Given the description of an element on the screen output the (x, y) to click on. 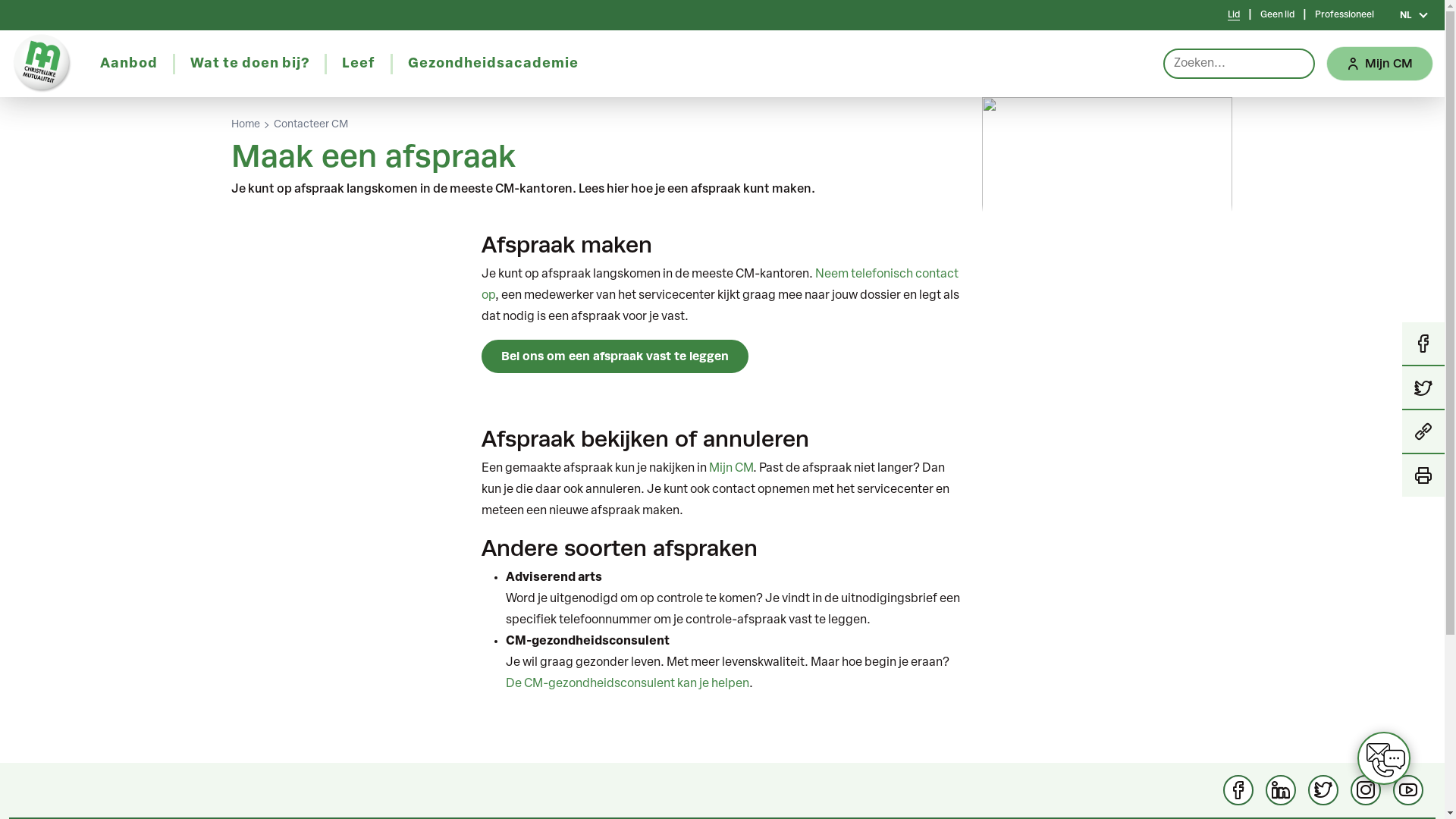
Overslaan en naar de inhoud gaan Element type: text (0, 0)
Gezondheidsacademie Element type: text (493, 63)
Bel ons om een afspraak vast te leggen Element type: text (613, 356)
Open contact services Element type: hover (1383, 757)
Facebook Element type: hover (1238, 790)
Instagram Element type: hover (1365, 790)
To the homepage Element type: hover (42, 63)
De CM-gezondheidsconsulent kan je helpen Element type: text (626, 683)
Linkedin Element type: hover (1280, 790)
Twitter Element type: hover (1323, 790)
Mijn CM Element type: text (1379, 63)
Home Element type: text (244, 124)
Contacteer CM Element type: text (310, 124)
NL Element type: text (1412, 14)
YouTube Element type: hover (1408, 790)
Leef Element type: text (358, 63)
Lid Element type: text (1233, 14)
Neem telefonisch contact op Element type: text (718, 284)
Professioneel Element type: text (1344, 14)
Geen lid Element type: text (1277, 14)
Mijn CM Element type: text (730, 468)
